Given the description of an element on the screen output the (x, y) to click on. 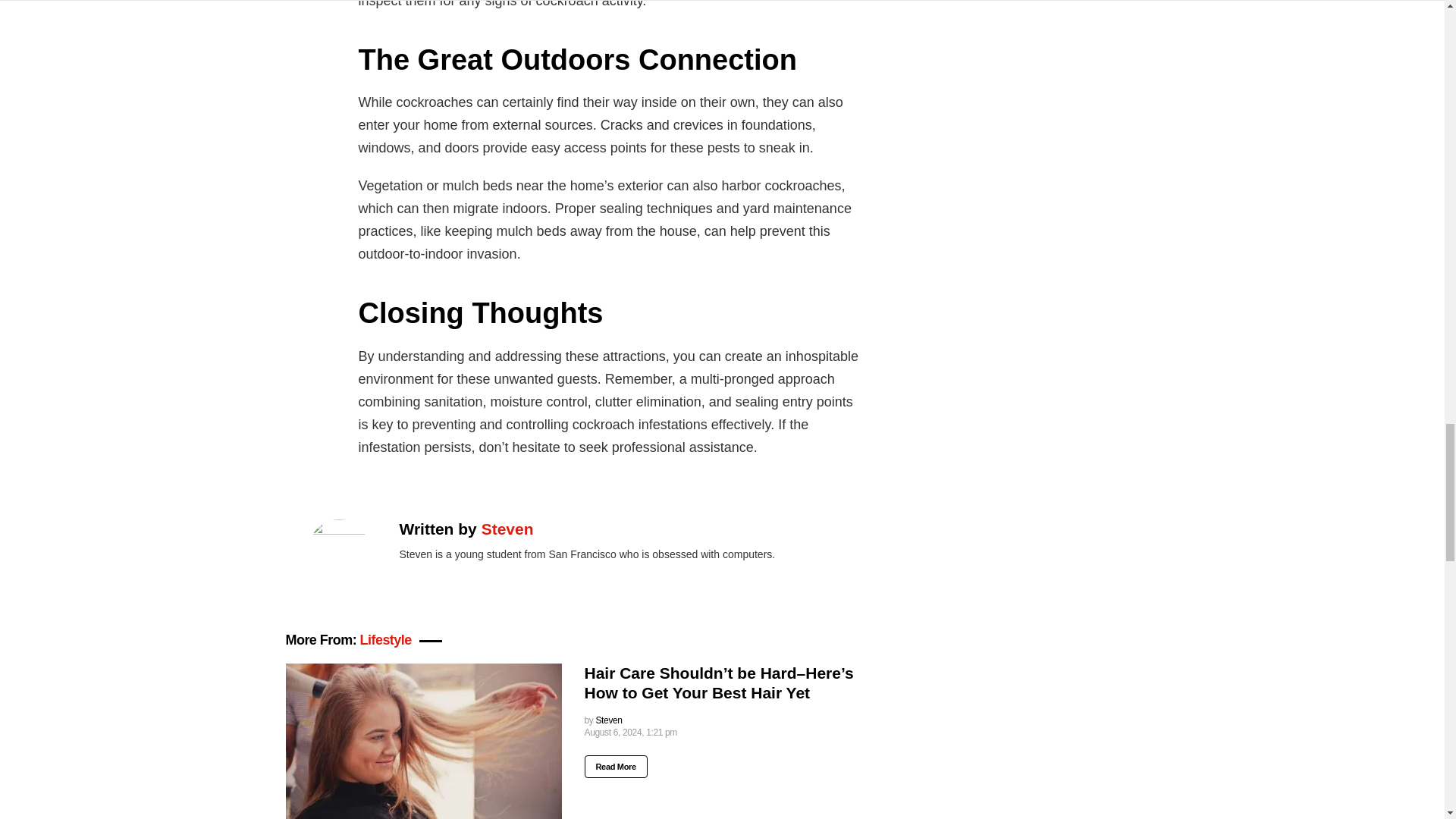
Steven (507, 528)
Steven (608, 719)
Lifestyle (385, 639)
Posts by Steven (608, 719)
Read More (614, 766)
